Given the description of an element on the screen output the (x, y) to click on. 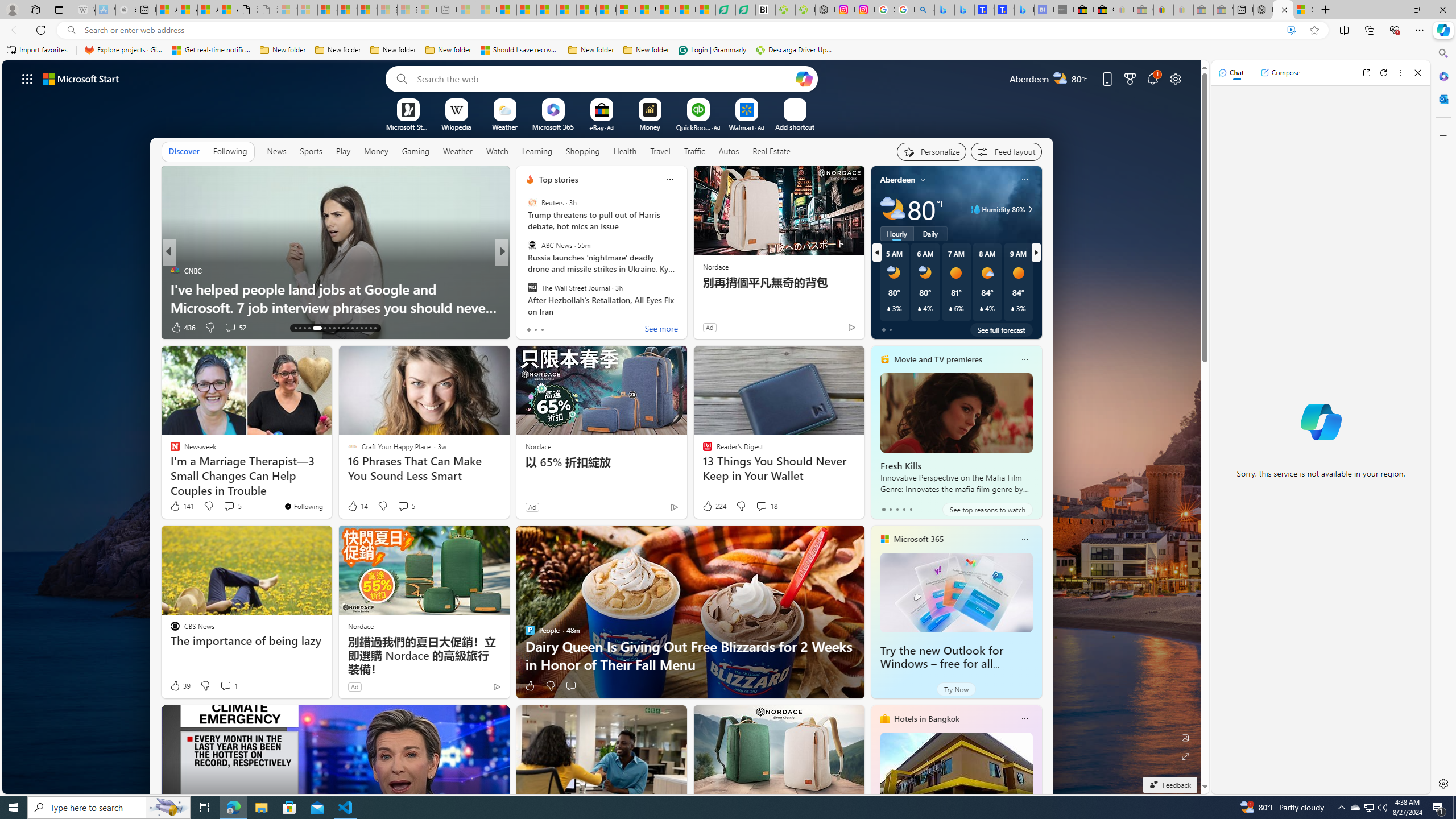
You're following The Weather Channel (826, 329)
AutomationID: tab-16 (309, 328)
141 Like (181, 505)
Partly cloudy (892, 208)
